Given the description of an element on the screen output the (x, y) to click on. 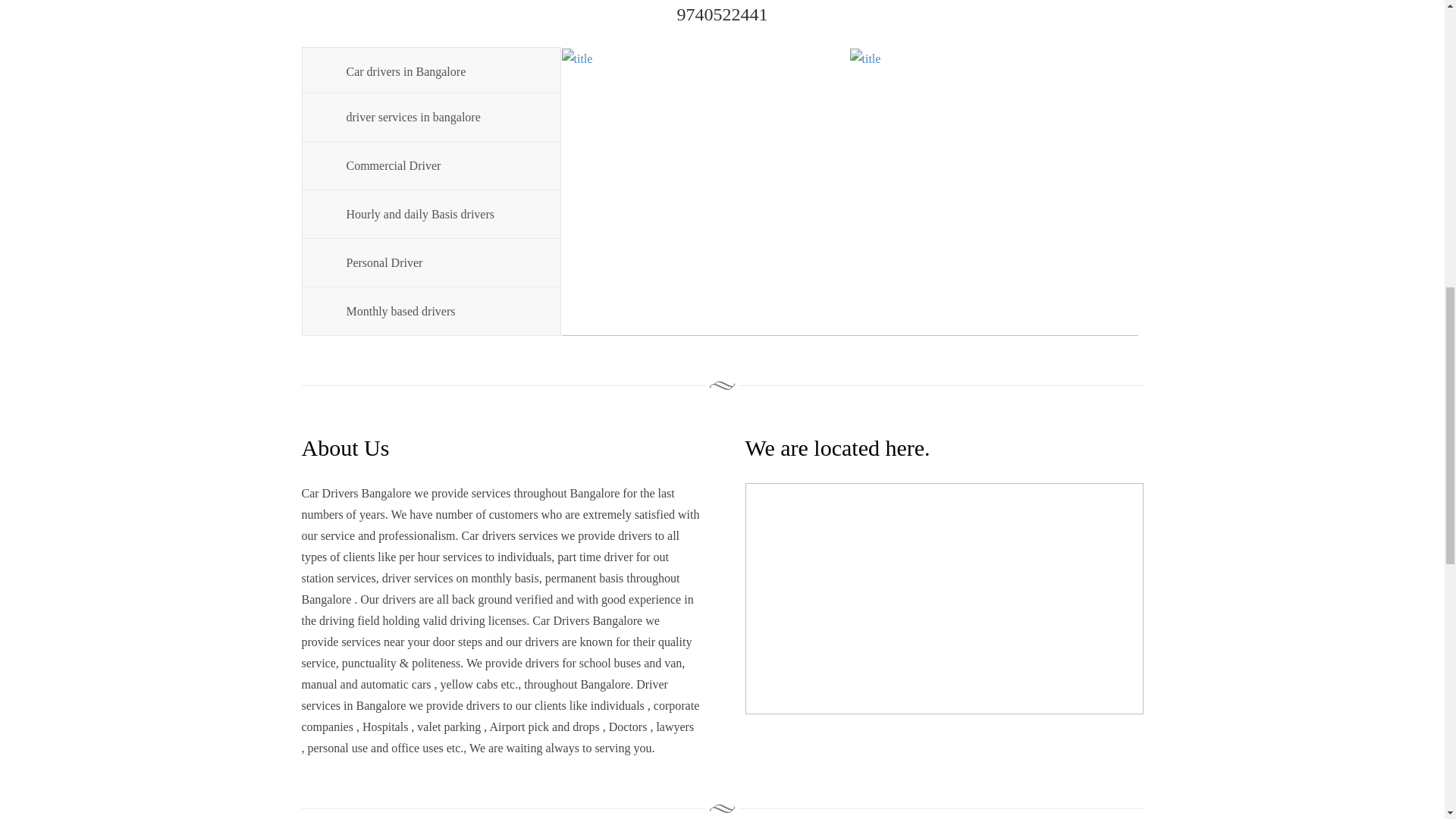
Permanent Link to Hourly and daily Basis drivers (440, 214)
Hourly and daily Basis drivers (440, 214)
driver services in bangalore (440, 116)
Monthly based drivers (440, 310)
Car drivers in Bangalore (440, 69)
Permanent Link to driver services in bangalore (440, 116)
Commercial Driver (440, 165)
Permanent Link to Personal Driver (440, 262)
Permanent Link to Commercial Driver (440, 165)
Personal Driver (440, 262)
